Given the description of an element on the screen output the (x, y) to click on. 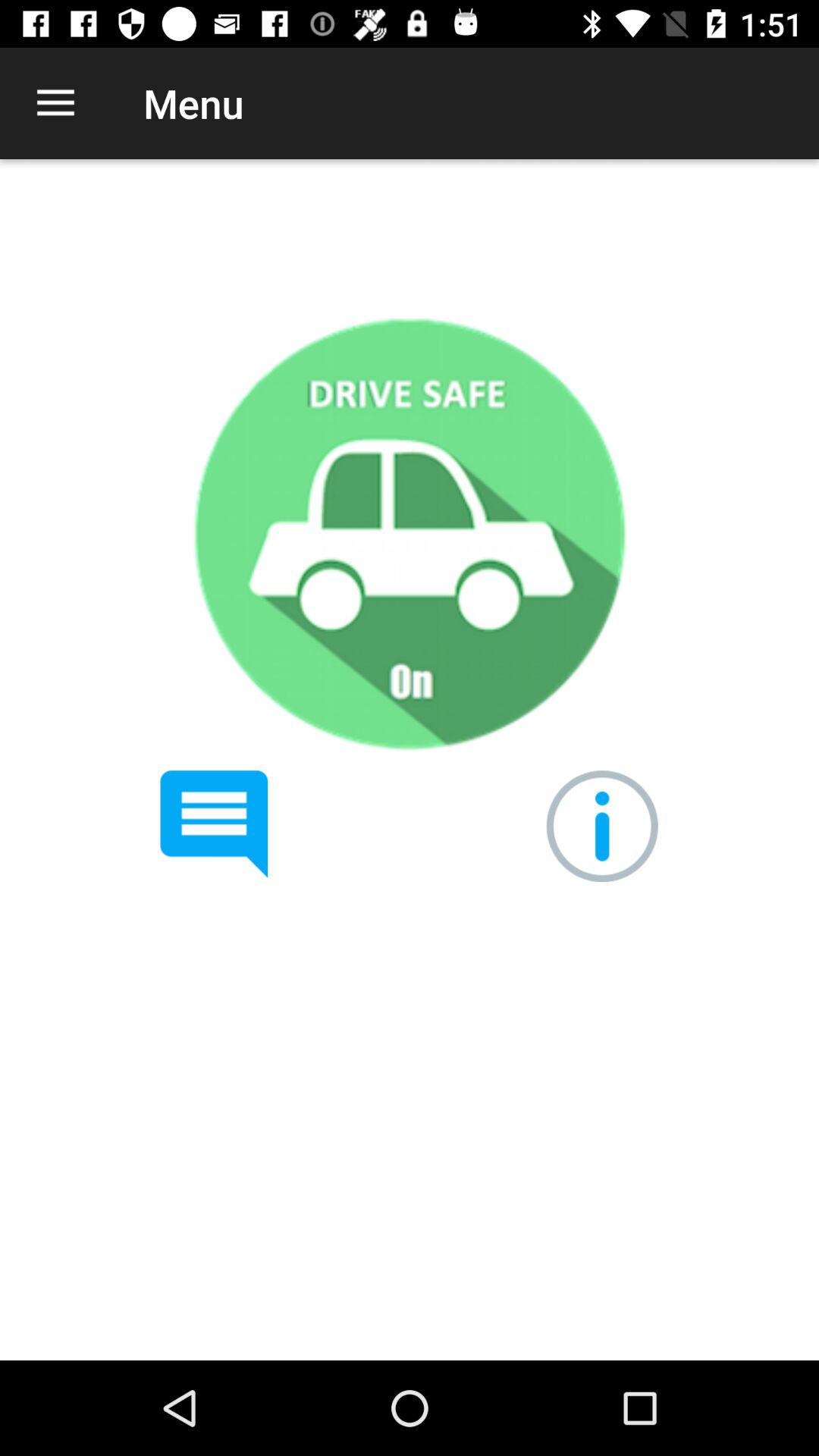
press the icon on the right (602, 826)
